Given the description of an element on the screen output the (x, y) to click on. 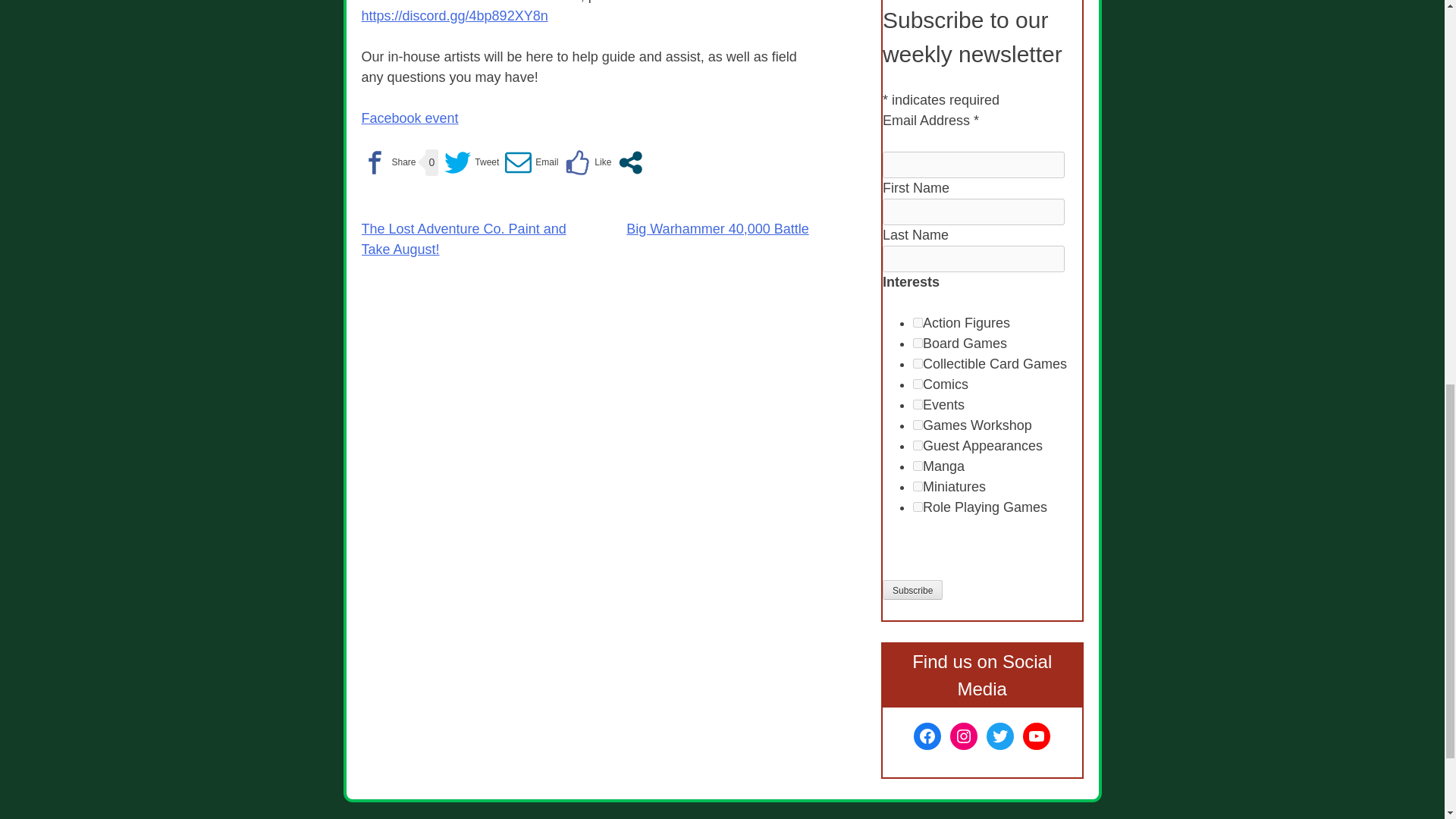
128 (917, 322)
Facebook event (409, 118)
512 (917, 424)
Tweet (471, 162)
Instagram (963, 736)
Twitter (1000, 736)
1 (917, 384)
4 (917, 363)
Subscribe (912, 589)
Share on Facebook (387, 162)
32 (917, 445)
Big Warhammer 40,000 Battle (717, 228)
16 (917, 465)
The Lost Adventure Co. Paint and Take August! (463, 239)
Open modal social networks (630, 162)
